Given the description of an element on the screen output the (x, y) to click on. 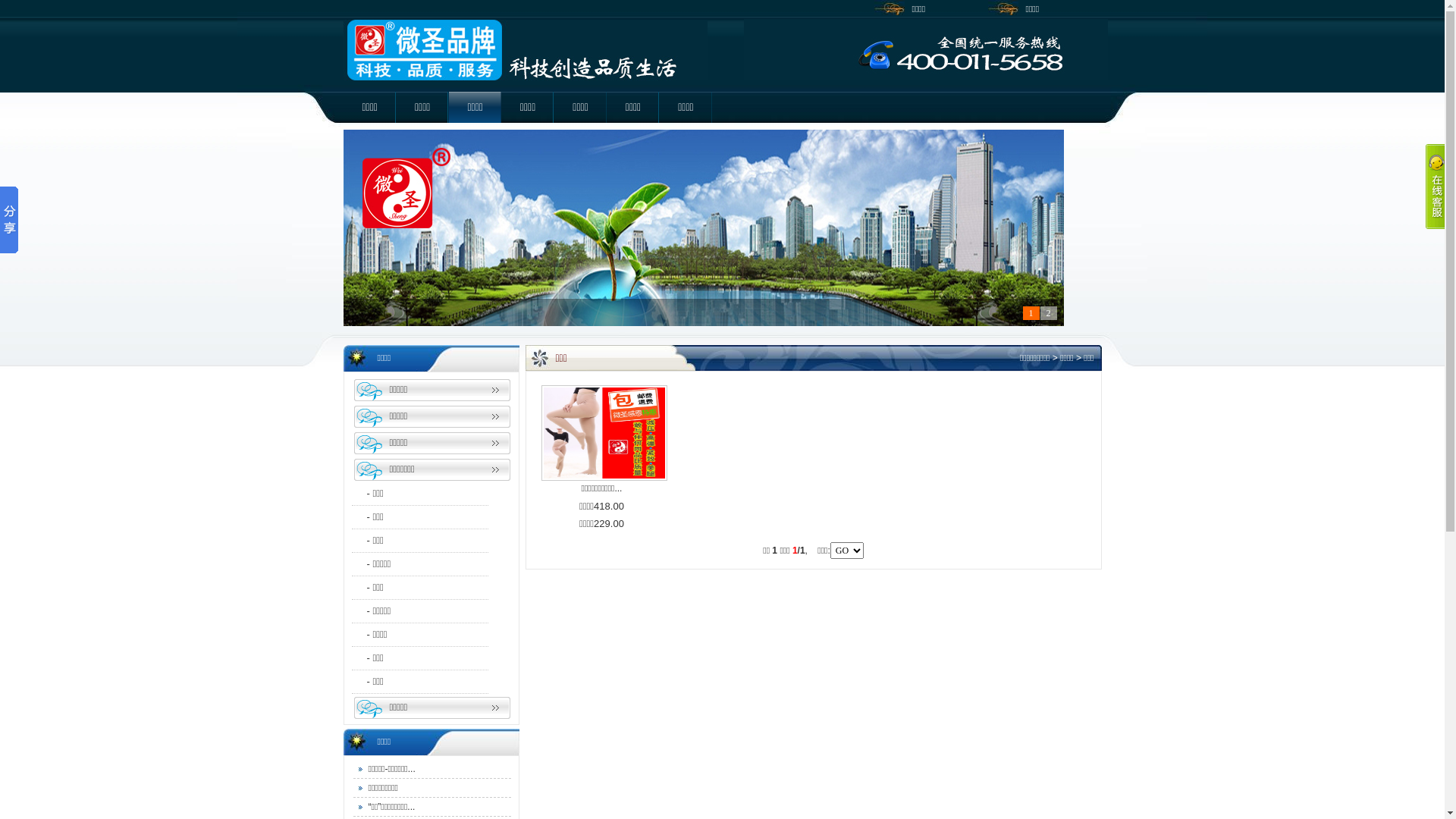
1 Element type: text (1030, 313)
2 Element type: text (1048, 313)
